Given the description of an element on the screen output the (x, y) to click on. 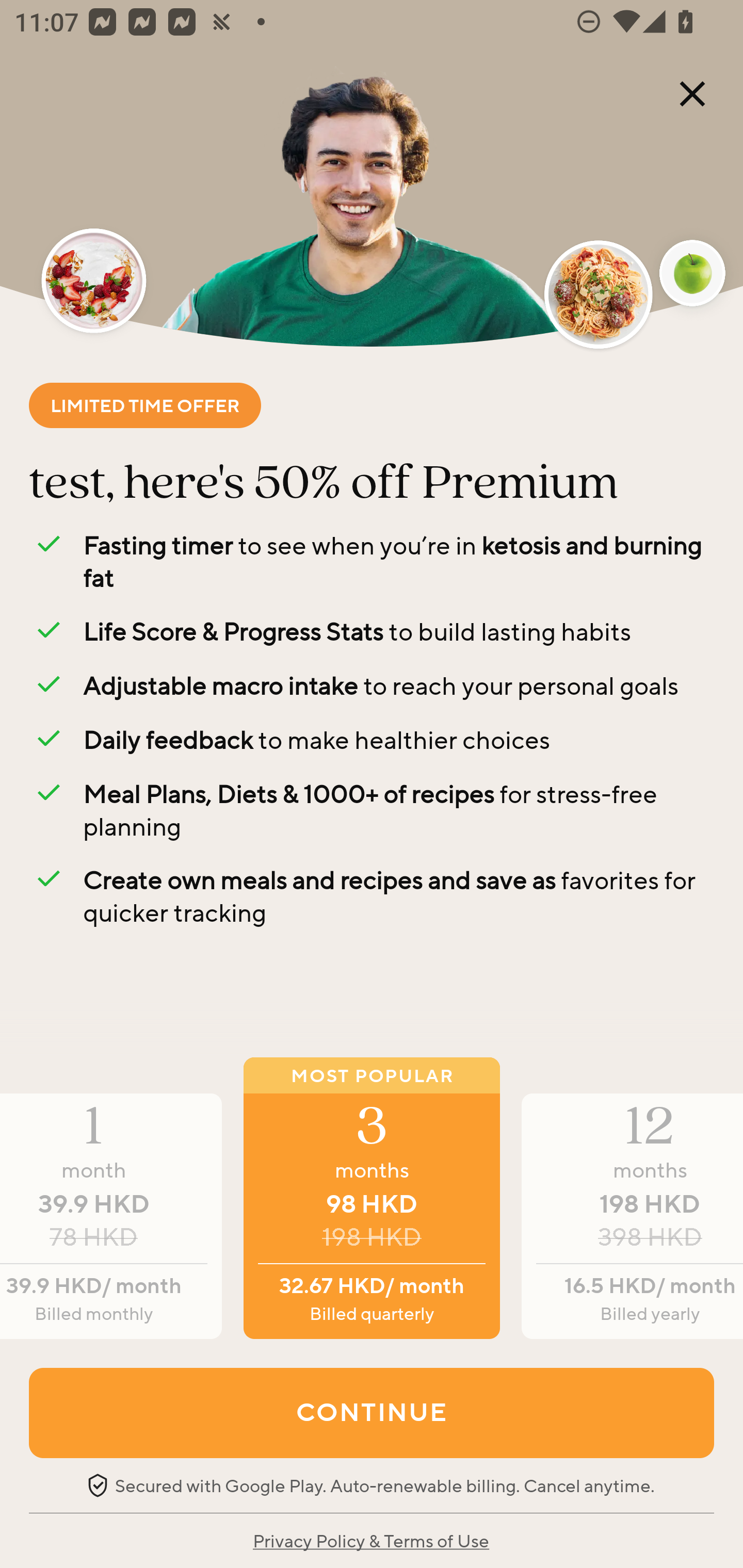
CONTINUE (371, 1412)
Privacy Policy & Terms of Use (370, 1540)
